Given the description of an element on the screen output the (x, y) to click on. 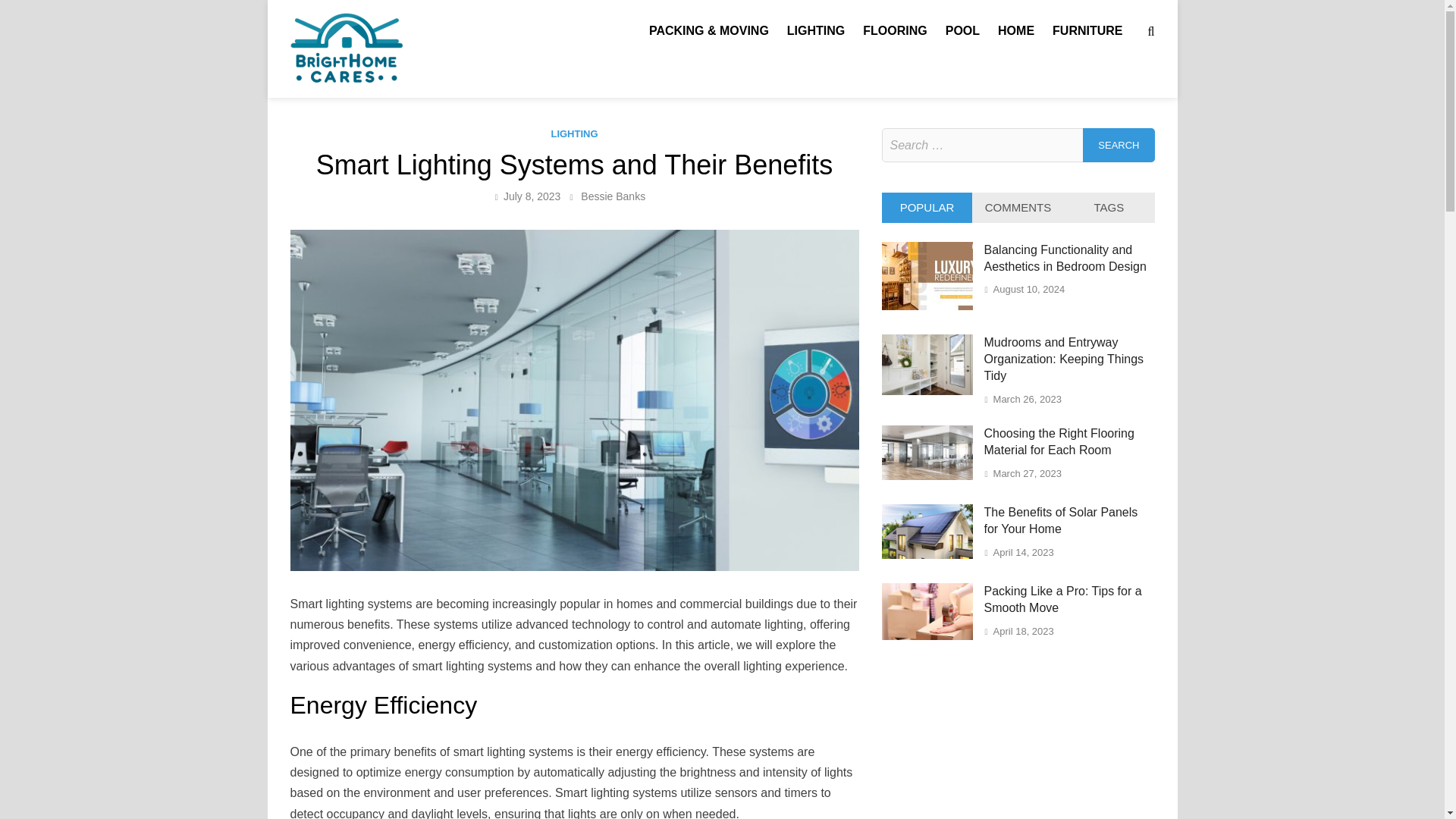
The Benefits of Solar Panels for Your Home (1061, 520)
Search (1118, 144)
April 14, 2023 (1023, 552)
April 18, 2023 (1023, 631)
Packing Like a Pro: Tips for a Smooth Move (927, 635)
The Benefits of Solar Panels for Your Home (927, 554)
August 10, 2024 (1028, 288)
Mudrooms and Entryway Organization: Keeping Things Tidy (927, 390)
POOL (962, 30)
TAGS (1108, 207)
